Given the description of an element on the screen output the (x, y) to click on. 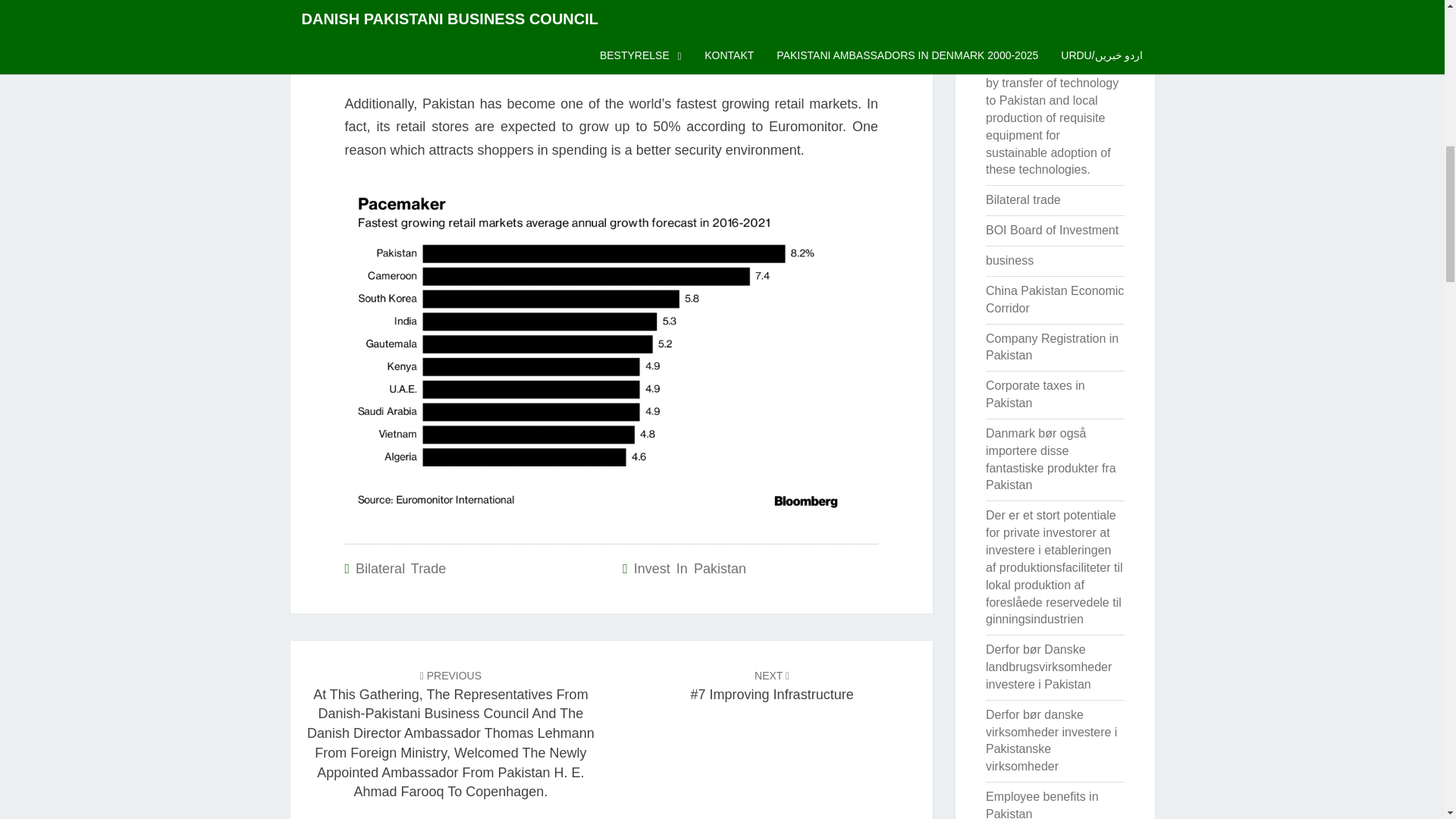
Bilateral trade (1023, 199)
BOI Board of Investment (1051, 229)
Bilateral Trade (400, 568)
Company Registration in Pakistan (1051, 347)
Invest In Pakistan (689, 568)
Employee benefits in Pakistan (1042, 804)
Bloomberg (428, 59)
China Pakistan Economic Corridor (1054, 299)
business (1009, 259)
Corporate taxes in Pakistan (1034, 394)
Alternatives to Company registration in Pakistan (1051, 27)
